Given the description of an element on the screen output the (x, y) to click on. 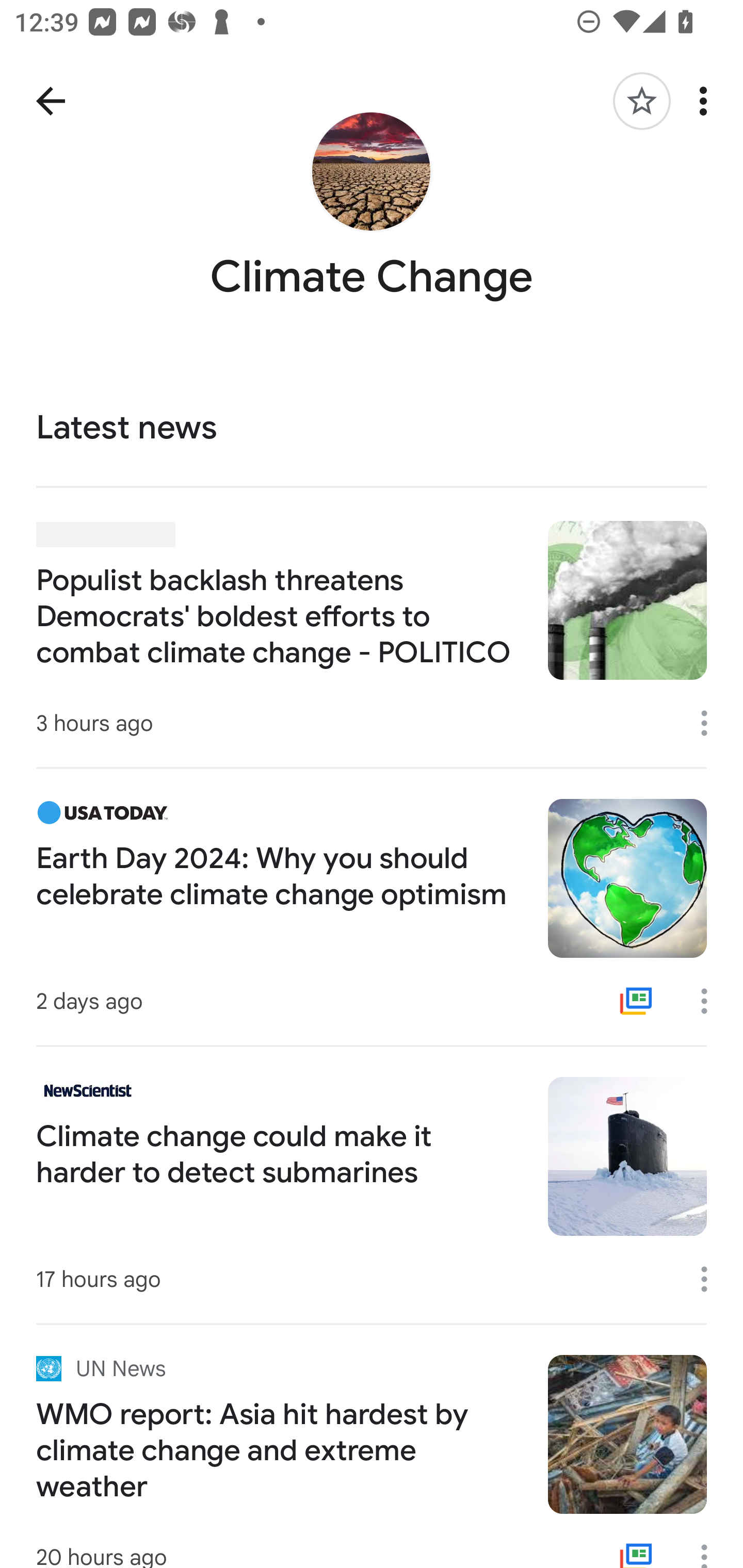
Navigate up (50, 101)
More options (706, 101)
Latest news (371, 428)
More options (711, 722)
More options (711, 1001)
More options (711, 1279)
More options (711, 1546)
